Given the description of an element on the screen output the (x, y) to click on. 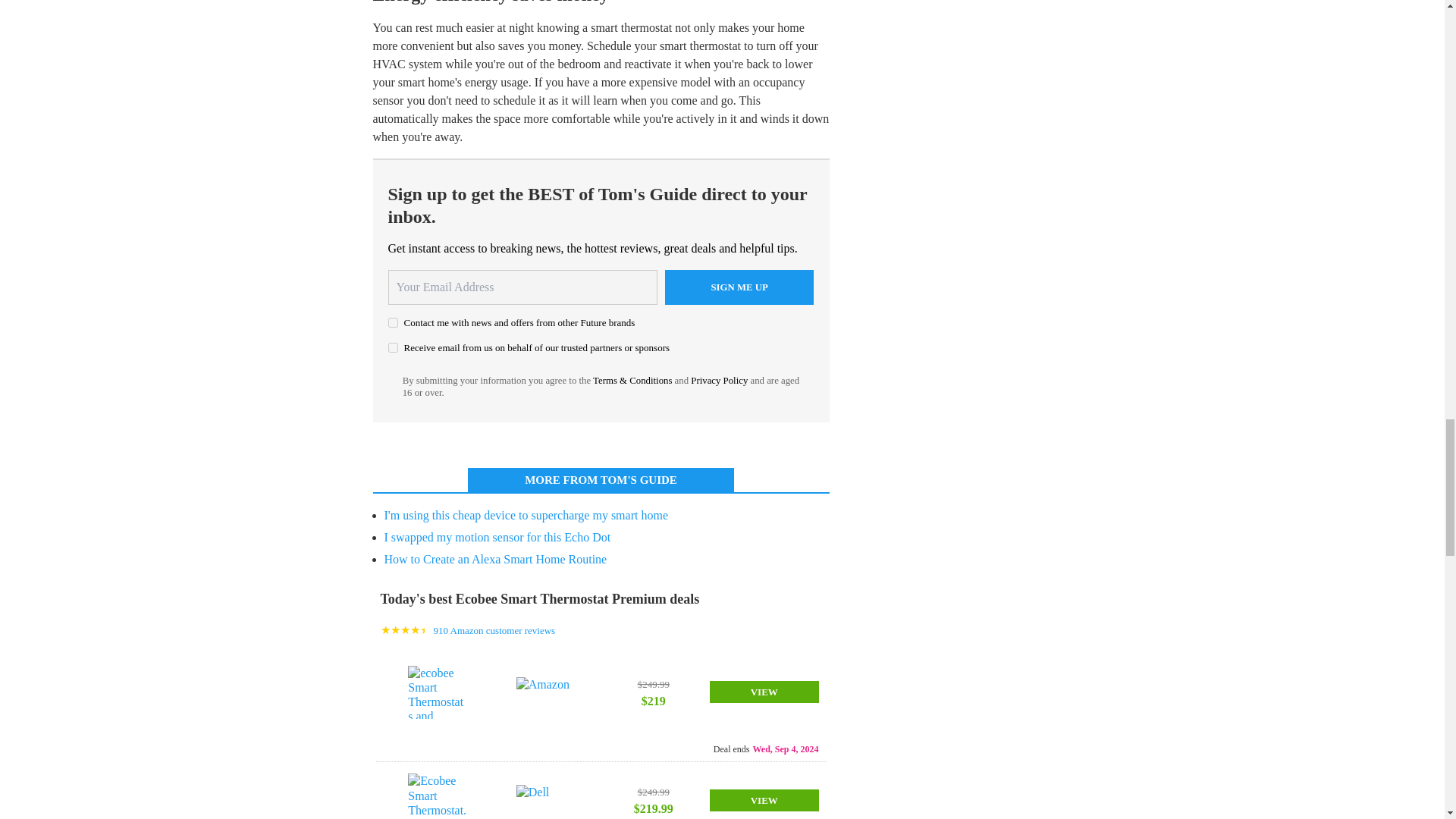
Amazon (546, 692)
ecobee Smart Thermostats and... (437, 692)
Ecobee Smart Thermostat... (437, 796)
on (392, 347)
on (392, 322)
Dell (546, 799)
Sign me up (739, 287)
